Given the description of an element on the screen output the (x, y) to click on. 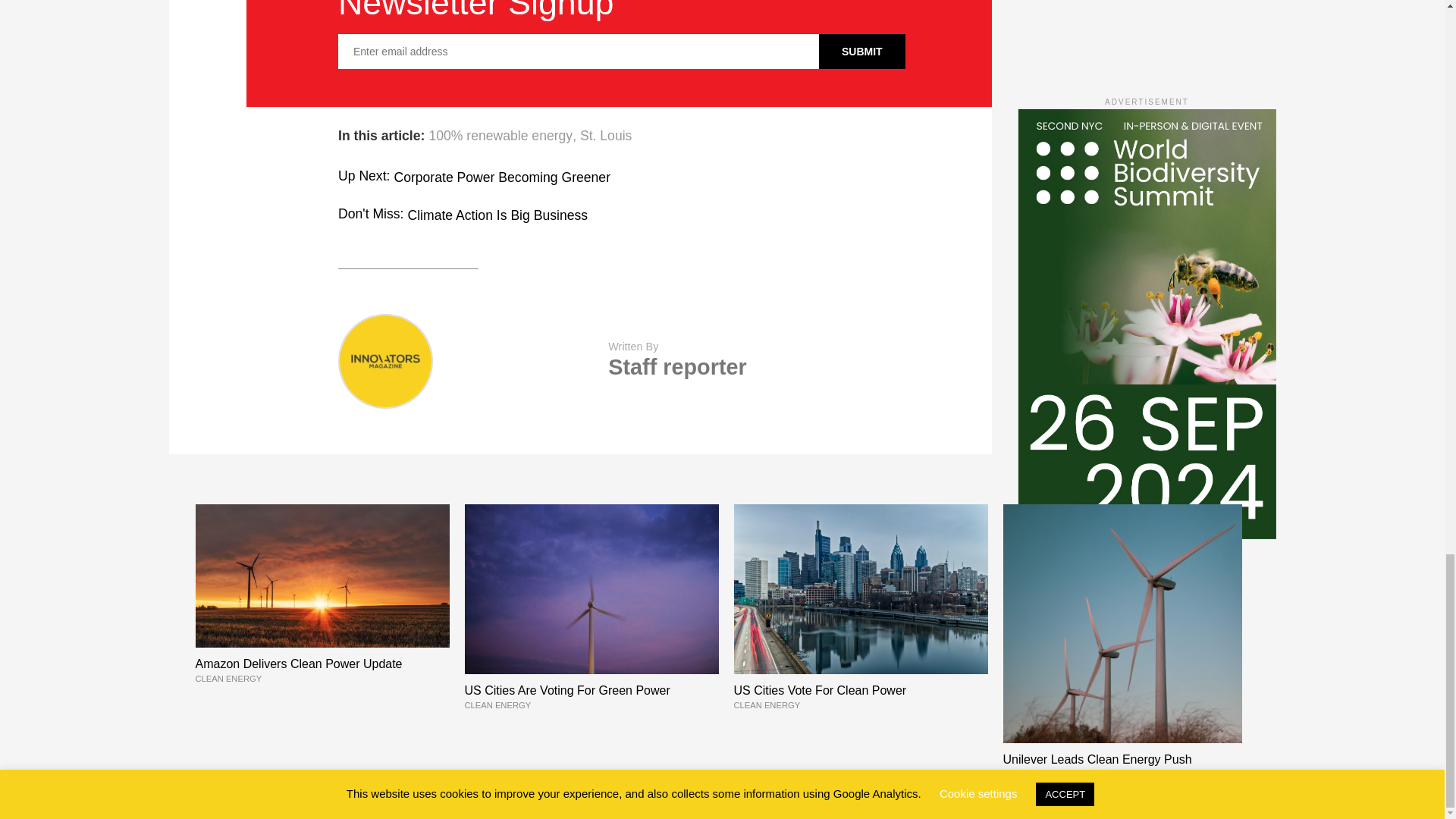
Posts by Staff reporter (676, 366)
Submit (861, 51)
